Given the description of an element on the screen output the (x, y) to click on. 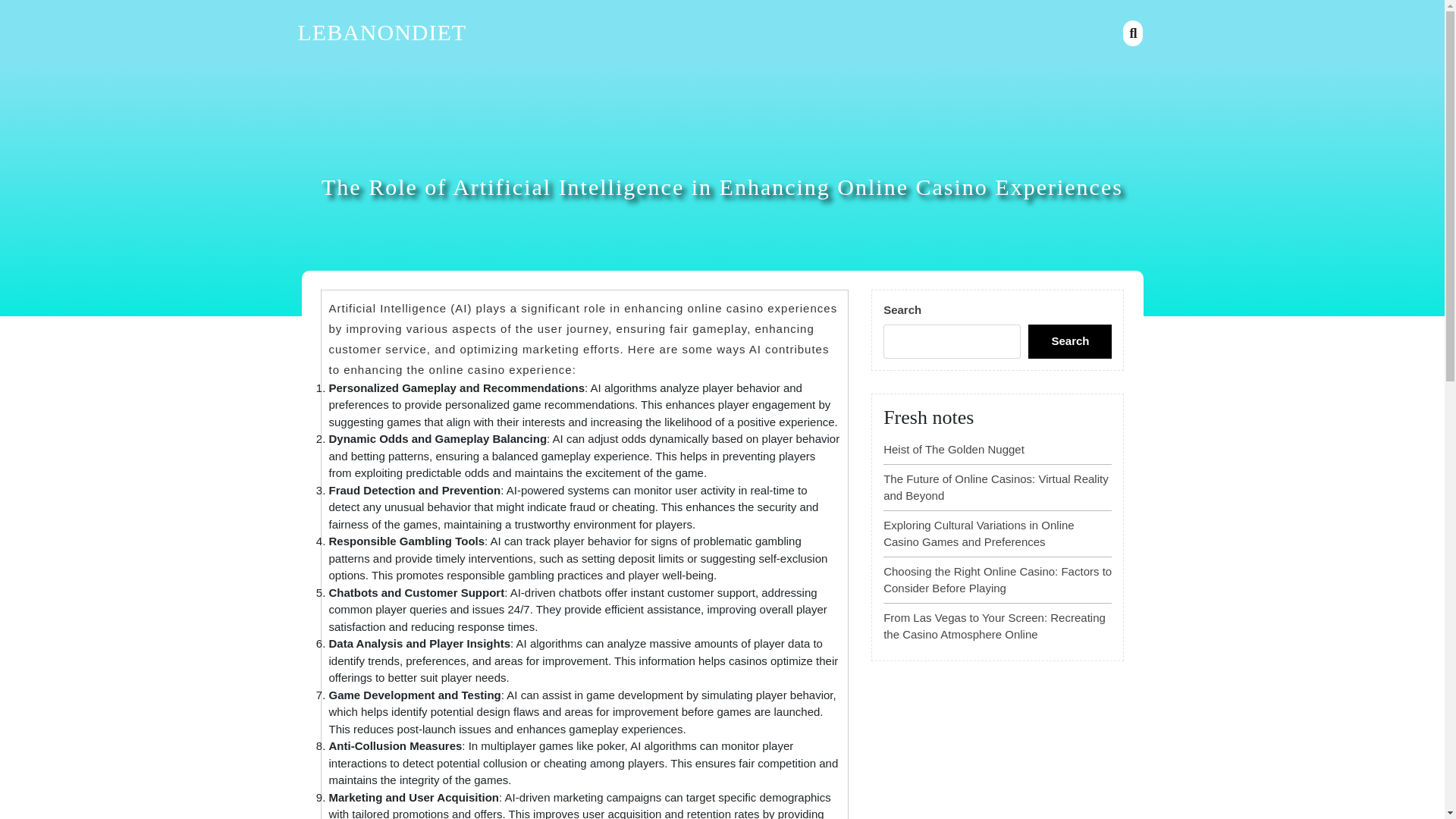
Heist of The Golden Nugget (954, 449)
Search (1069, 341)
The Future of Online Casinos: Virtual Reality and Beyond (995, 487)
LEBANONDIET (381, 32)
